Given the description of an element on the screen output the (x, y) to click on. 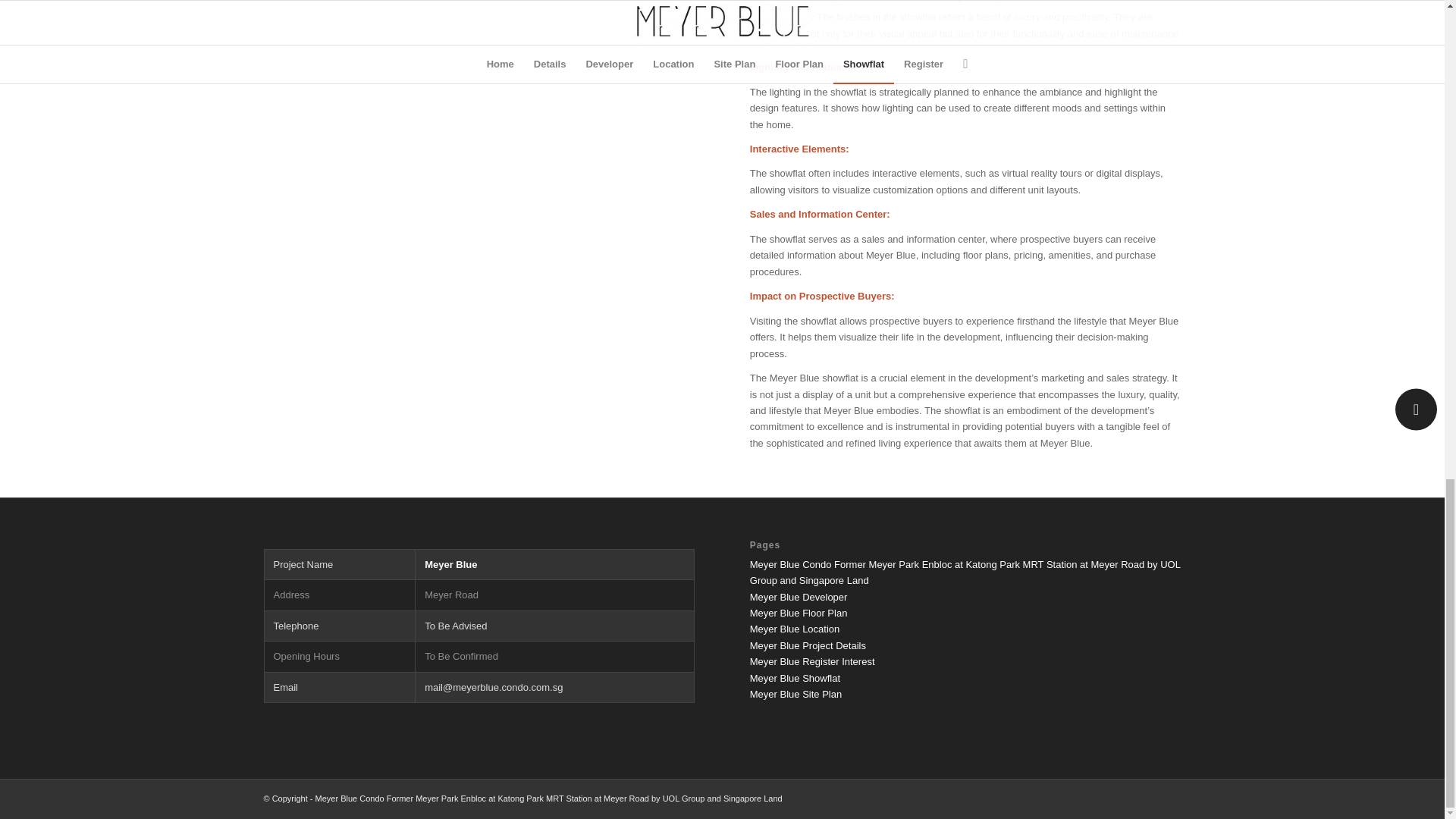
Meyer Blue Site Plan (795, 694)
Meyer Blue Developer (798, 596)
Meyer Blue Location (794, 628)
Meyer Blue Project Details (807, 645)
Meyer Blue Floor Plan (798, 613)
Meyer Blue Showflat (794, 677)
Meyer Blue Register Interest (812, 661)
